Given the description of an element on the screen output the (x, y) to click on. 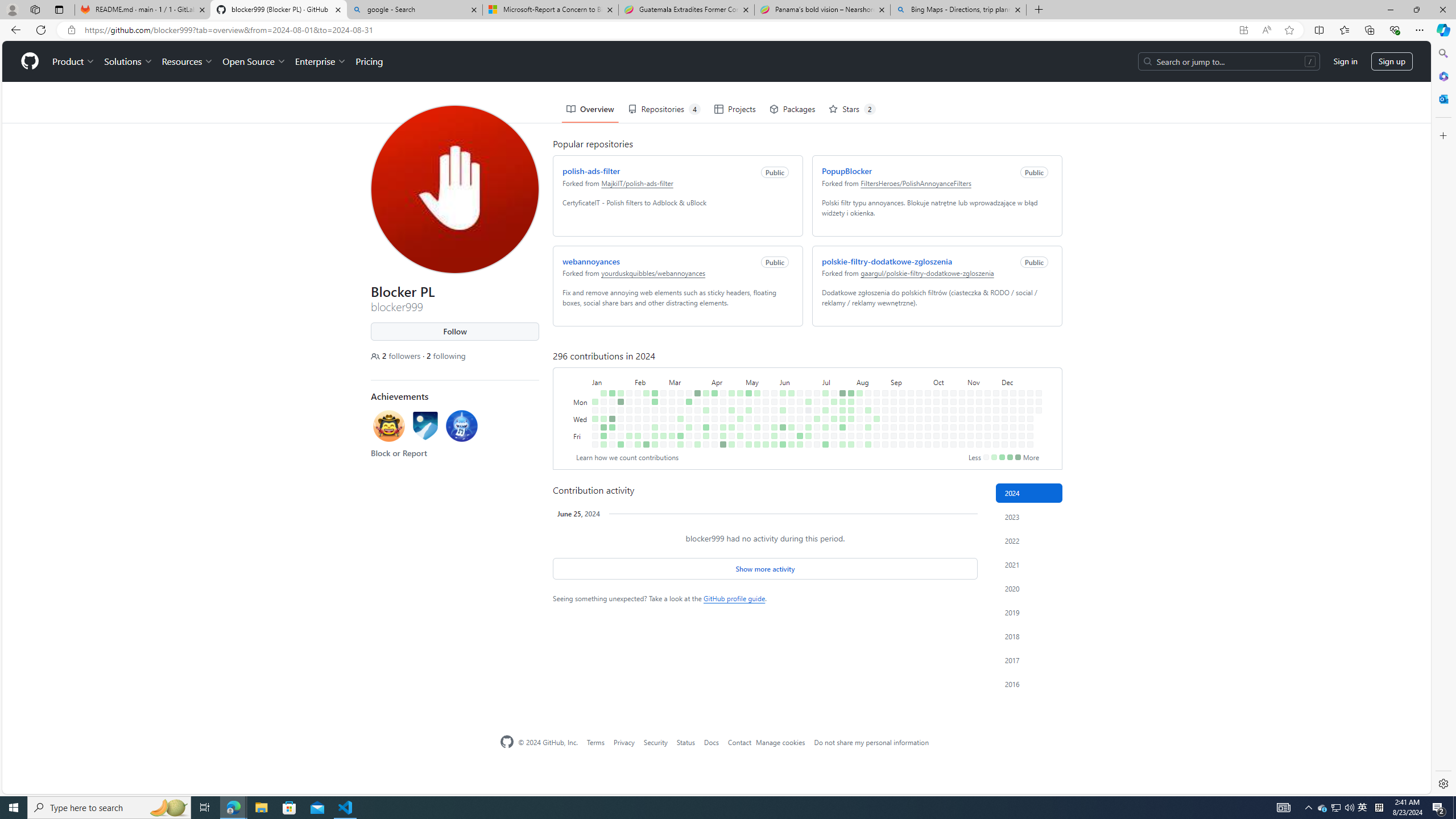
No contributions on October 19th. (944, 444)
No contributions on July 2nd. (814, 369)
No contributions on August 31st. (885, 444)
1 contribution on July 29th. (848, 360)
No contributions on April 29th. (738, 360)
No contributions on March 2nd. (663, 444)
No contributions on March 27th. (694, 377)
No contributions on June 10th. (789, 360)
Status (684, 741)
No contributions on September 16th. (908, 360)
No contributions on August 6th. (857, 369)
3 contributions on June 27th. (806, 386)
No contributions on December 3rd. (1002, 369)
No contributions on September 5th. (890, 386)
No contributions on September 15th. (908, 351)
